Given the description of an element on the screen output the (x, y) to click on. 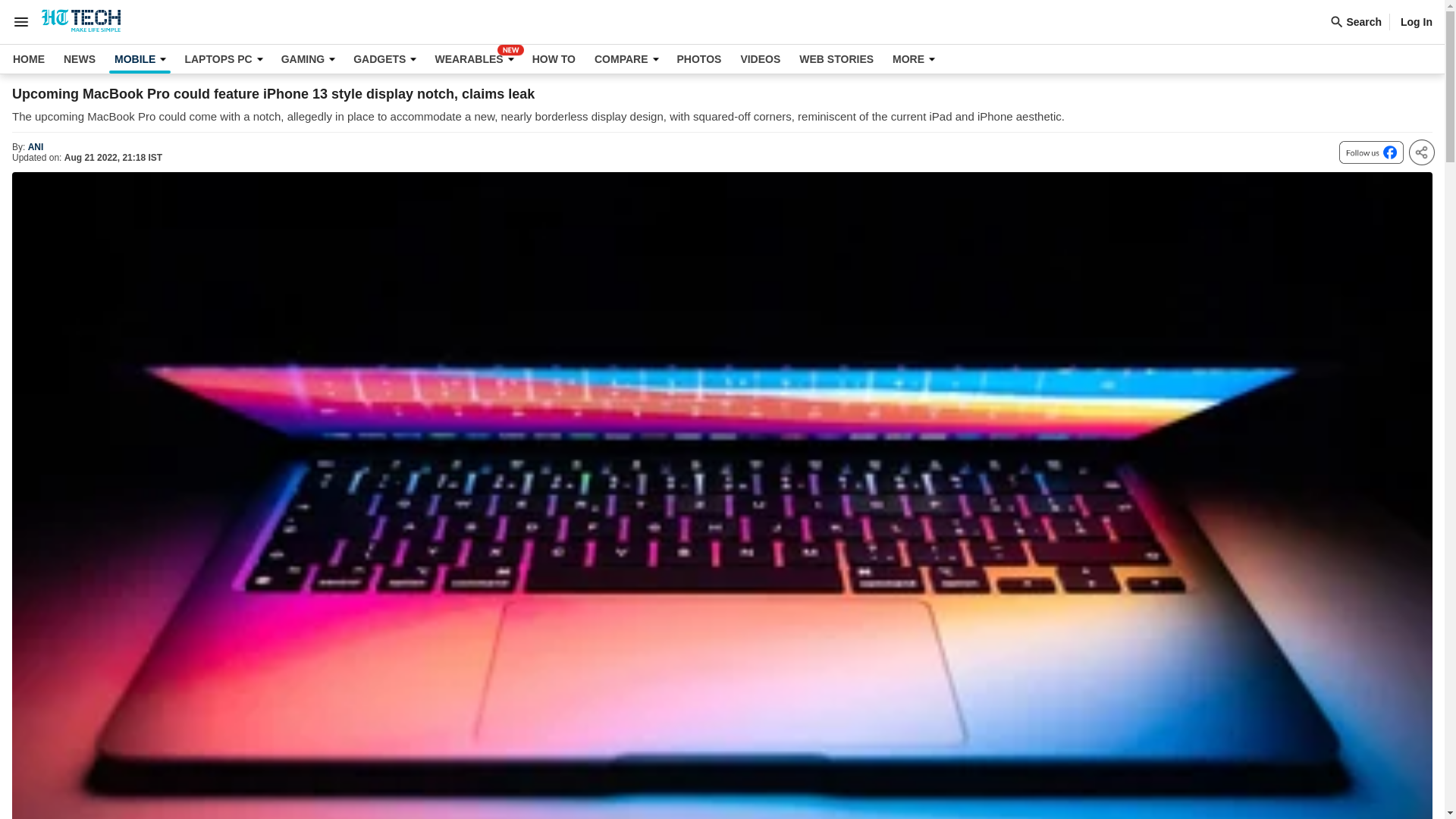
Search (1359, 21)
LAPTOPS PC (222, 59)
Get to know more about News from India and around the world. (79, 59)
COMPARE (626, 59)
Log In (1416, 21)
GAMING (308, 59)
GADGETS (383, 59)
